Given the description of an element on the screen output the (x, y) to click on. 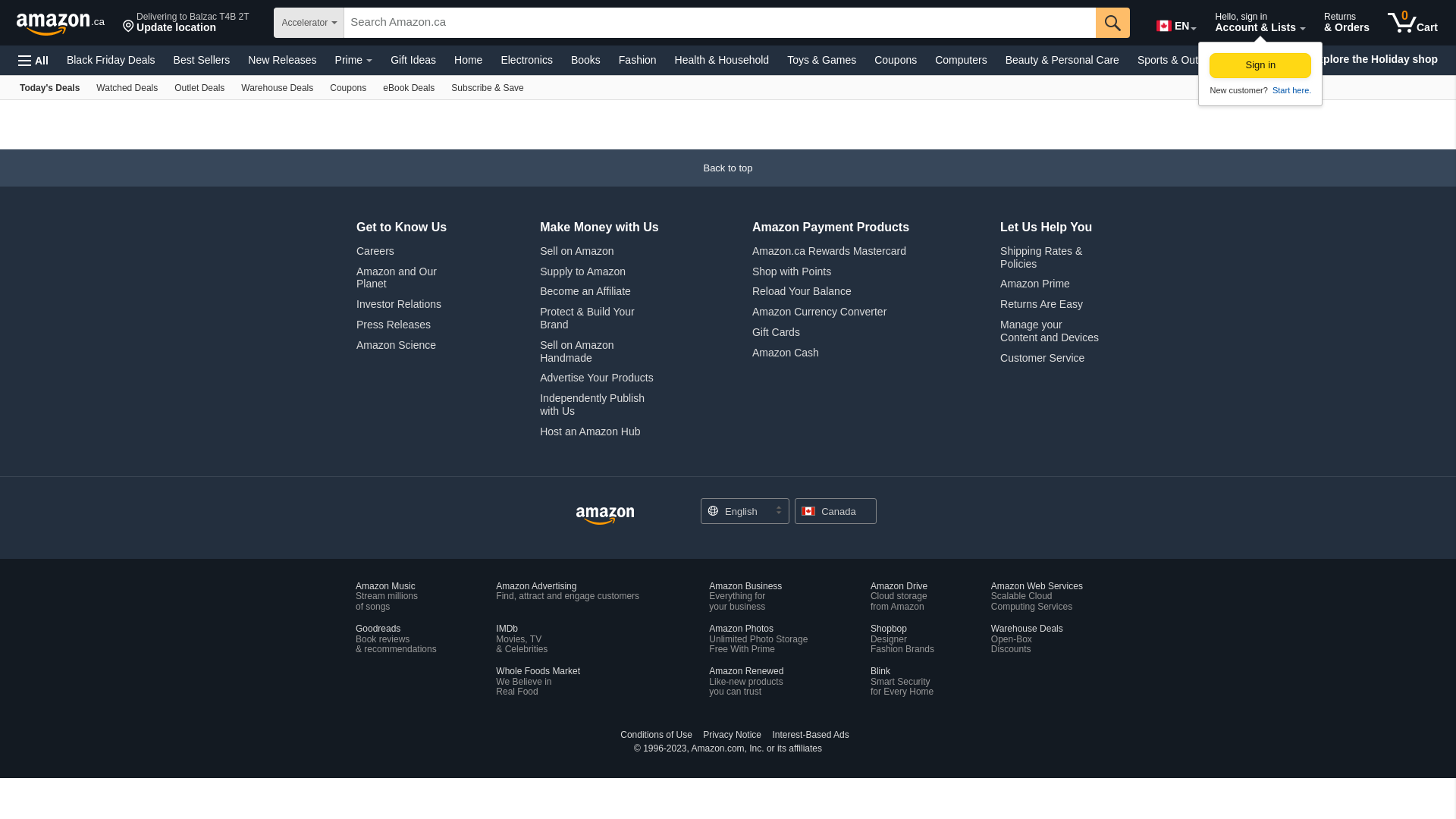
Shopbop
Designer
Fashion Brands Element type: text (902, 638)
Warehouse Deals
Open-Box
Discounts Element type: text (1027, 638)
Warehouse Deals Element type: text (276, 87)
Toys & Games Element type: text (821, 59)
All Element type: text (33, 60)
Canada Element type: text (834, 511)
Customer Service Element type: text (1042, 357)
Returns Are Easy Element type: text (1041, 304)
Manage your Content and Devices Element type: text (1049, 330)
Investor Relations Element type: text (398, 304)
.ca Element type: text (62, 22)
Best Sellers Element type: text (201, 59)
Home Element type: text (468, 59)
Privacy Notice Element type: text (731, 734)
Amazon Prime Element type: text (1035, 283)
Press Releases Element type: text (393, 324)
Amazon Science Element type: text (396, 344)
eBook Deals Element type: text (408, 87)
Beauty & Personal Care Element type: text (1062, 59)
Hello, sign in
Account & Lists Element type: text (1260, 22)
Watched Deals Element type: text (126, 87)
English Element type: text (744, 511)
Gift Cards Element type: text (776, 332)
Books Element type: text (585, 59)
Explore the Holiday shop Element type: text (1373, 59)
Amazon Drive
Cloud storage
from Amazon Element type: text (898, 595)
Reload Your Balance Element type: text (801, 291)
New Releases Element type: text (281, 59)
Blink
Smart Security
for Every Home Element type: text (901, 680)
EN Element type: text (1175, 22)
Host an Amazon Hub Element type: text (589, 431)
Amazon Business
Everything for
your business Element type: text (745, 595)
Amazon.ca Rewards Mastercard Element type: text (829, 250)
Computers Element type: text (960, 59)
Become an Affiliate Element type: text (584, 291)
Advertise Your Products Element type: text (595, 377)
IMDb
Movies, TV
& Celebrities Element type: text (521, 638)
Interest-Based Ads Element type: text (810, 734)
Amazon Photos
Unlimited Photo Storage
Free With Prime Element type: text (758, 638)
Returns
& Orders Element type: text (1346, 22)
Conditions of Use Element type: text (656, 734)
Coupons Element type: text (895, 59)
Amazon Web Services
Scalable Cloud
Computing Services Element type: text (1036, 595)
Black Friday Deals Element type: text (110, 59)
Amazon Cash Element type: text (785, 352)
Sell on Amazon Element type: text (576, 250)
Shop with Points Element type: text (791, 271)
Delivering to Balzac T4B 2T
Update location Element type: text (186, 22)
Amazon Advertising
Find, attract and engage customers Element type: text (567, 591)
Today's Deals Element type: text (49, 87)
Sell on Amazon Handmade Element type: text (576, 351)
Coupons Element type: text (347, 87)
Skip to main content Element type: text (60, 20)
Outlet Deals Element type: text (199, 87)
Independently Publish with Us Element type: text (591, 404)
Amazon Music
Stream millions
of songs Element type: text (386, 595)
Careers Element type: text (375, 250)
Sports & Outdoors Element type: text (1180, 59)
Protect & Build Your Brand Element type: text (586, 317)
Go Element type: text (1112, 22)
Health & Household Element type: text (721, 59)
Subscribe & Save Element type: text (486, 87)
Whole Foods Market
We Believe in
Real Food Element type: text (537, 680)
Start here. Element type: text (1290, 89)
Shipping Rates & Policies Element type: text (1041, 256)
Amazon and Our Planet Element type: text (396, 277)
Supply to Amazon Element type: text (582, 271)
Amazon Currency Converter Element type: text (819, 311)
Gift Ideas Element type: text (413, 59)
Goodreads
Book reviews
& recommendations Element type: text (395, 638)
Amazon Renewed
Like-new products
you can trust Element type: text (746, 680)
Prime Element type: text (354, 59)
Electronics Element type: text (526, 59)
Sign in Element type: text (1260, 65)
Fashion Element type: text (637, 59)
0
Cart Element type: text (1412, 22)
